Given the description of an element on the screen output the (x, y) to click on. 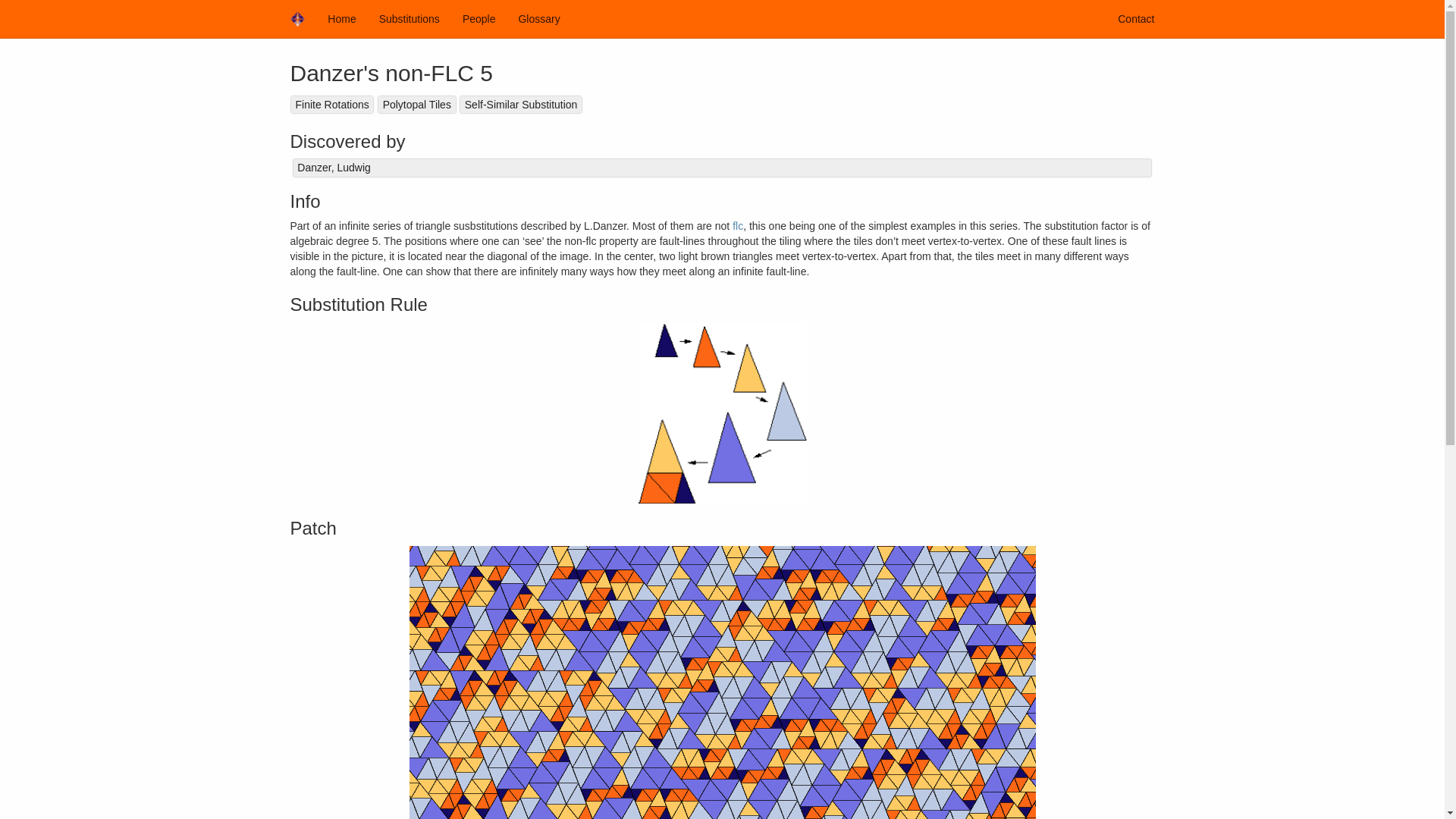
Danzer, Ludwig (721, 167)
People (478, 18)
Polytopal Tiles (416, 104)
Glossary (538, 18)
Home (340, 18)
Finite Rotations (331, 104)
Substitutions (409, 18)
Contact (1136, 18)
Self-Similar Substitution (520, 104)
